Given the description of an element on the screen output the (x, y) to click on. 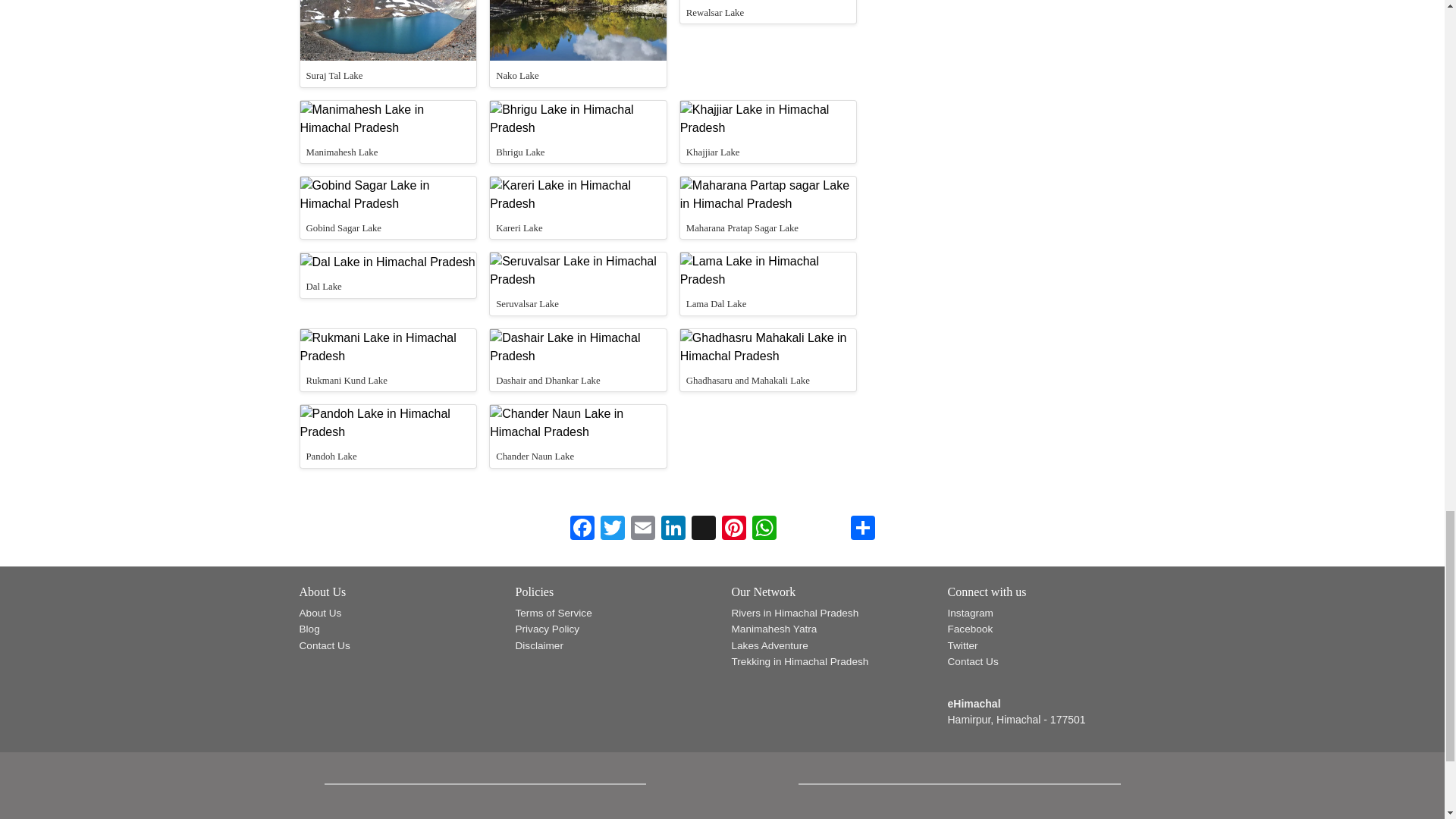
Twitter (611, 529)
Facebook (581, 529)
WhatsApp (763, 529)
Snapchat (703, 529)
LinkedIn (673, 529)
Pinterest (734, 529)
Email (642, 529)
